Given the description of an element on the screen output the (x, y) to click on. 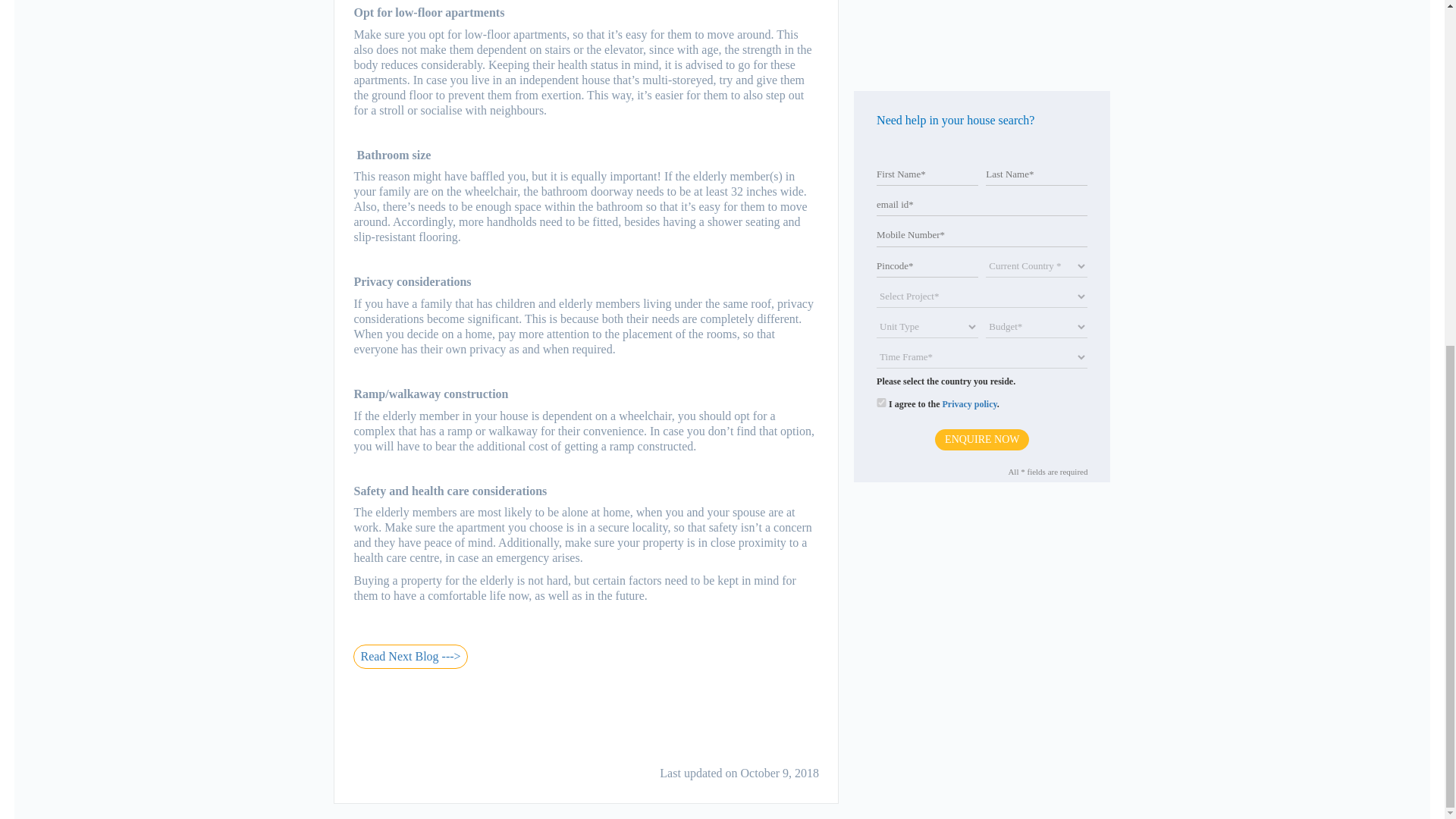
Privacy policy (969, 123)
checked (881, 122)
Enquire Now (981, 159)
Enquire Now (981, 159)
